Given the description of an element on the screen output the (x, y) to click on. 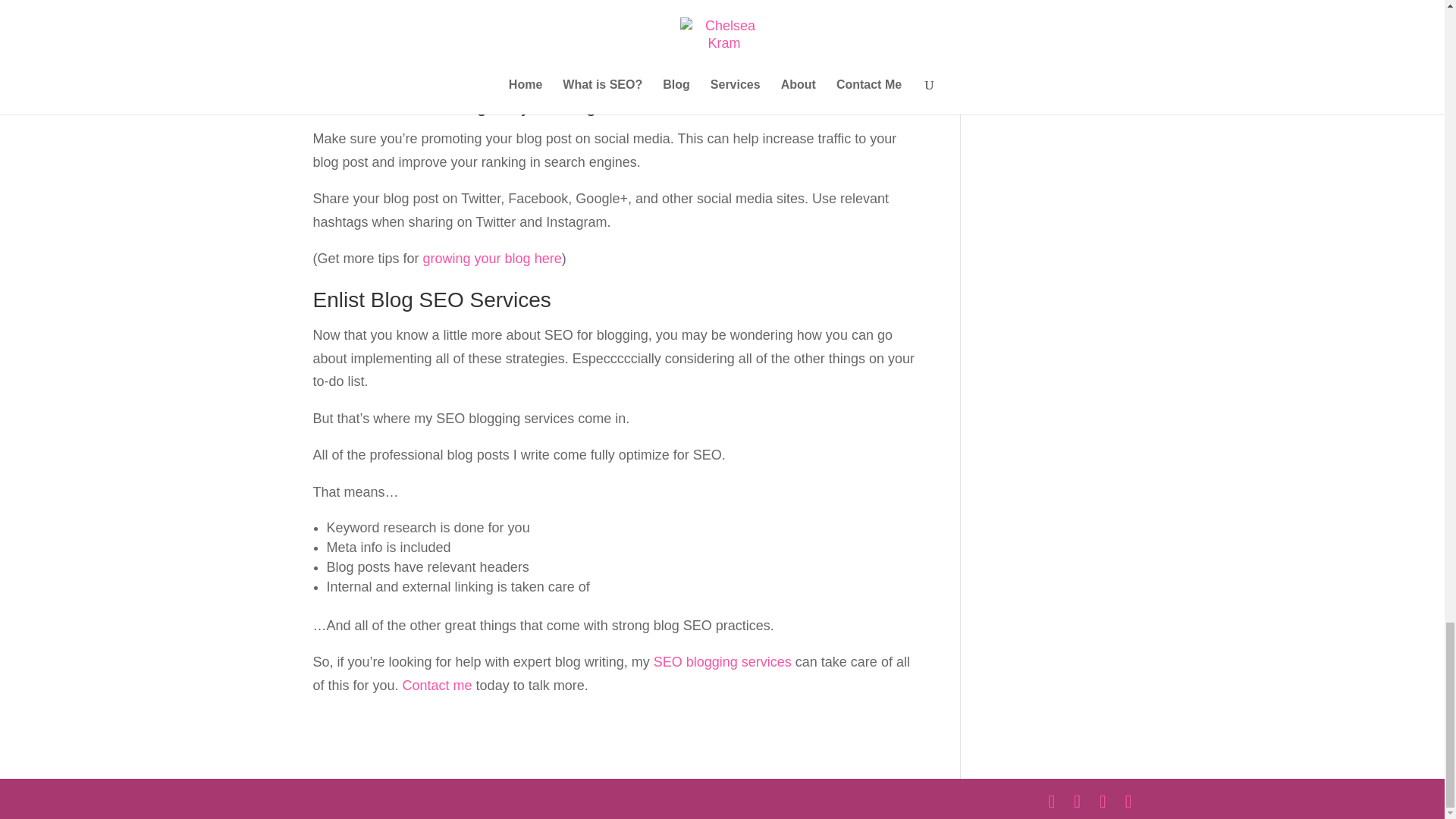
SEO blogging services (722, 661)
on-page SEO I talk more about in this post (611, 66)
growing your blog here (492, 258)
Contact me (437, 685)
